Given the description of an element on the screen output the (x, y) to click on. 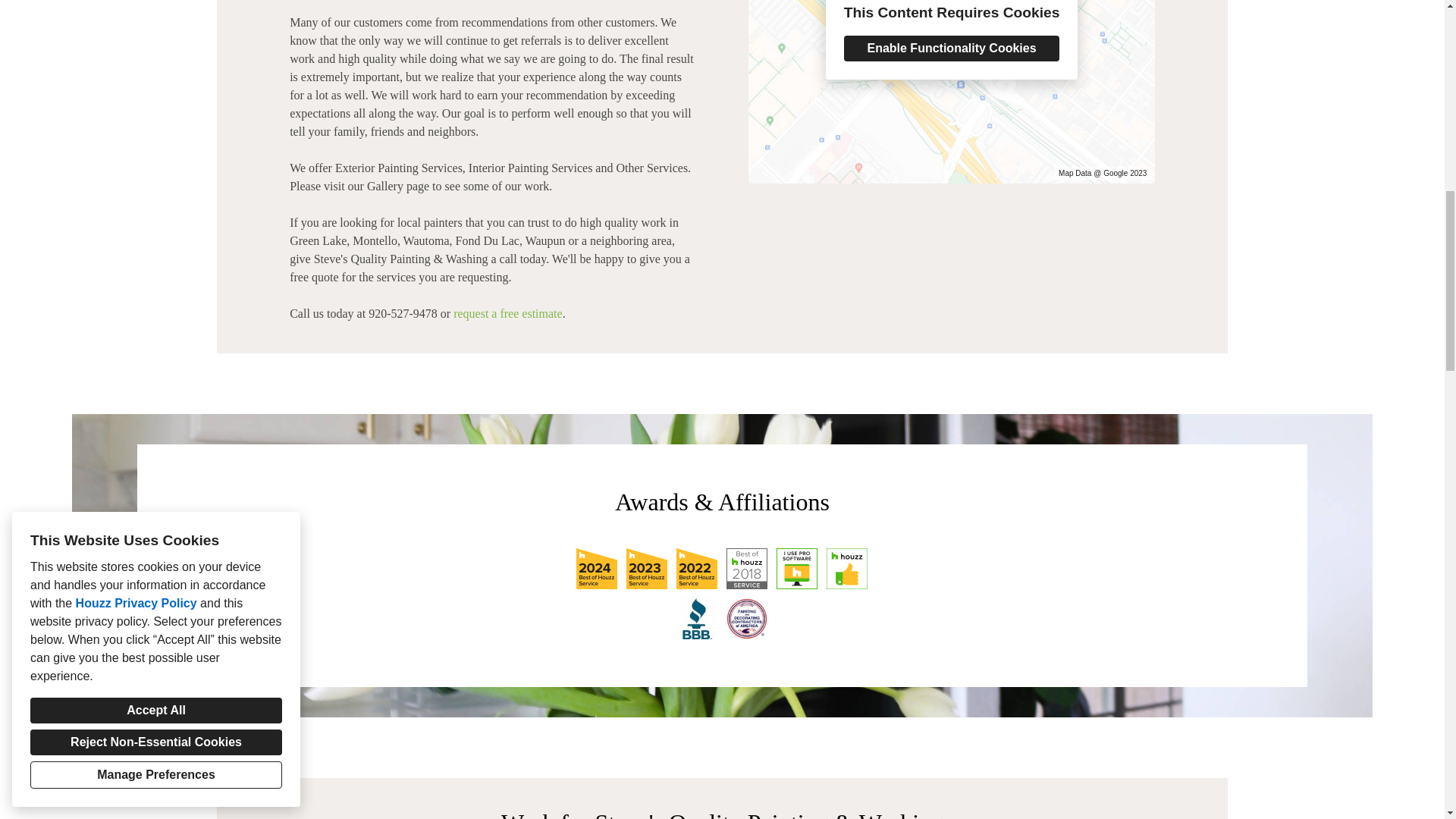
request a free estimate (507, 313)
Enable Functionality Cookies (951, 48)
